Given the description of an element on the screen output the (x, y) to click on. 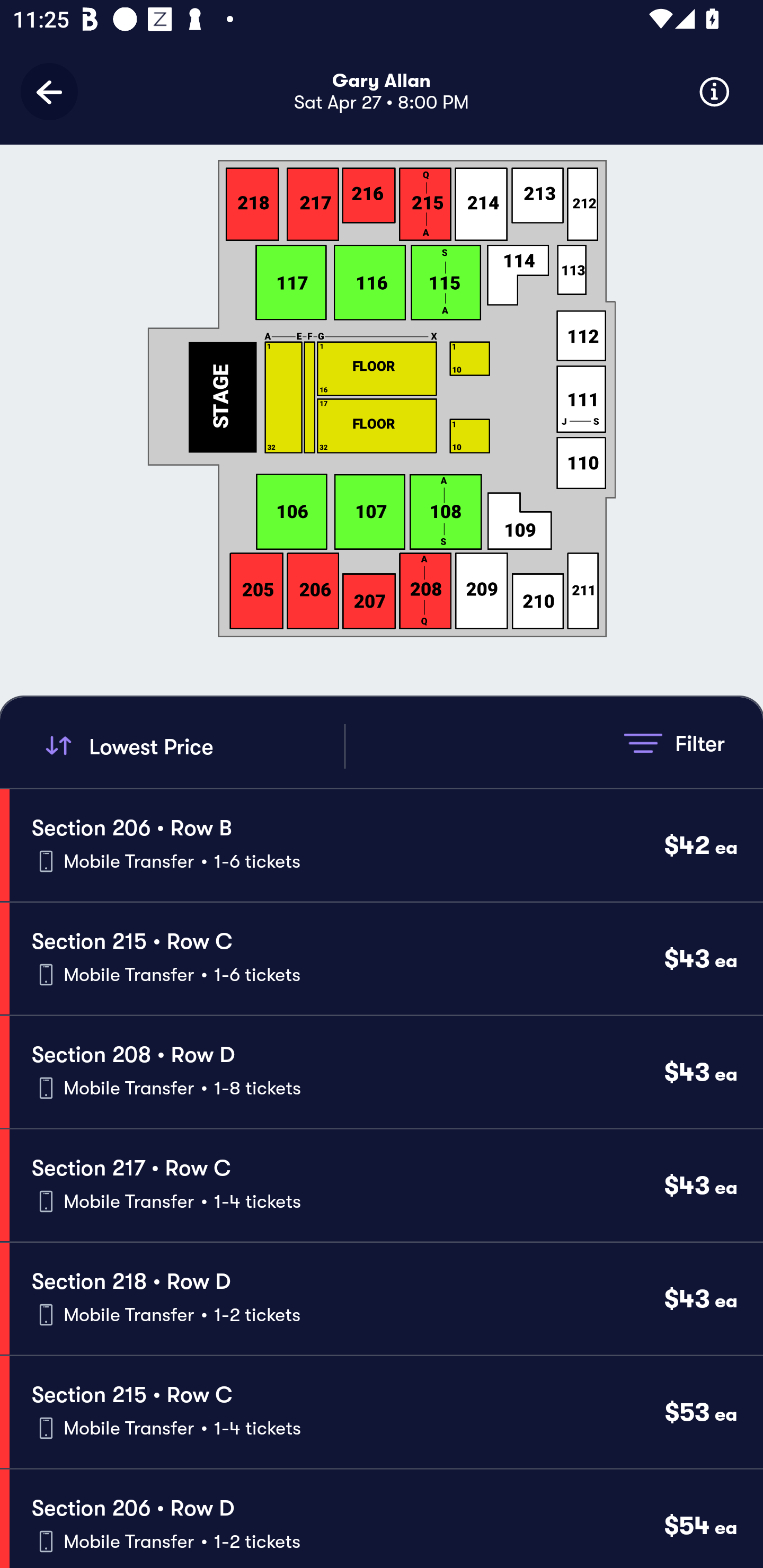
Lowest Price (191, 746)
Filter (674, 743)
